Given the description of an element on the screen output the (x, y) to click on. 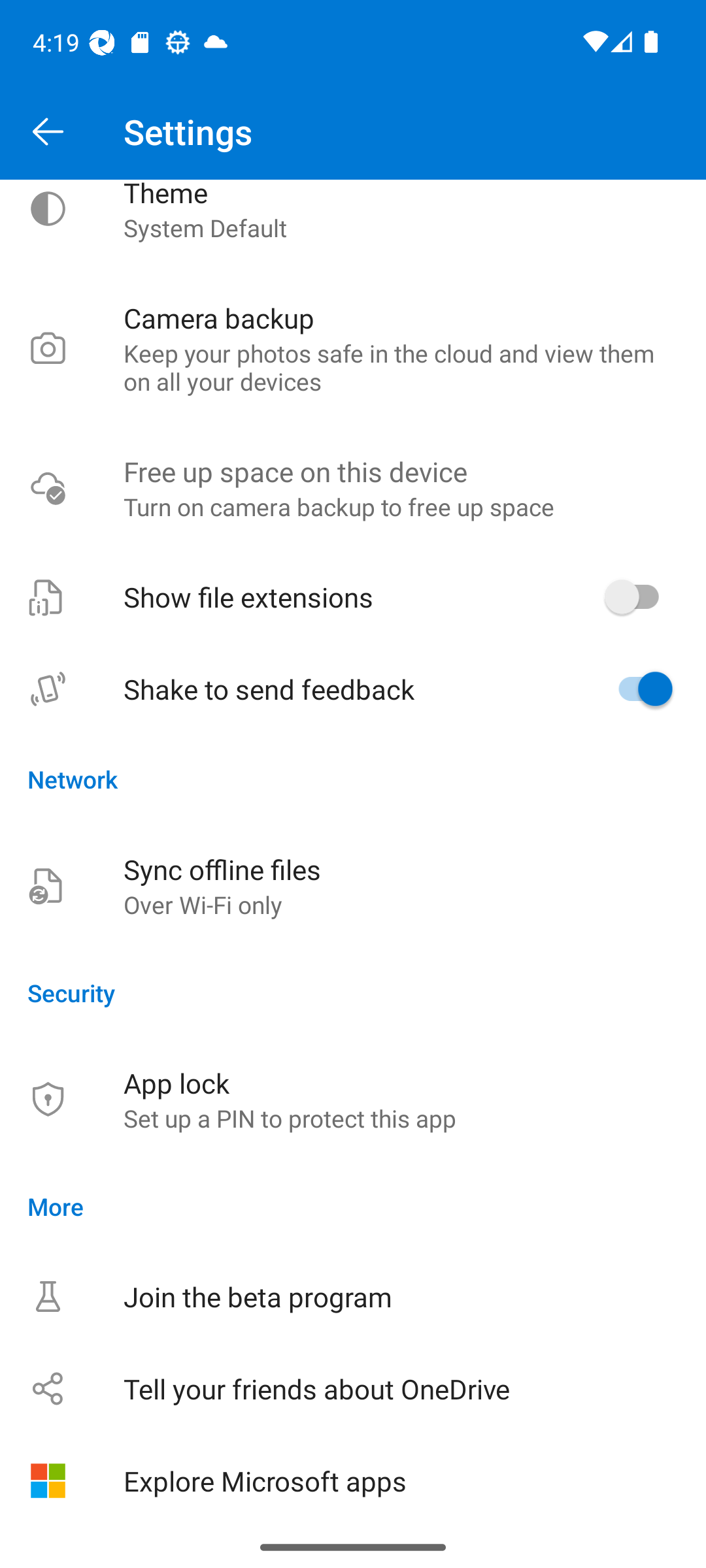
Navigate up Settings (353, 131)
Navigate up (48, 131)
Theme System Default (353, 225)
Show file extensions (353, 596)
Shake to send feedback (353, 688)
Network (353, 779)
Sync offline files Over Wi-Fi only (353, 885)
Security (353, 992)
App lock Set up a PIN to protect this app (353, 1098)
More (353, 1206)
Join the beta program (353, 1296)
Tell your friends about OneDrive (353, 1388)
Explore Microsoft apps (353, 1480)
